Given the description of an element on the screen output the (x, y) to click on. 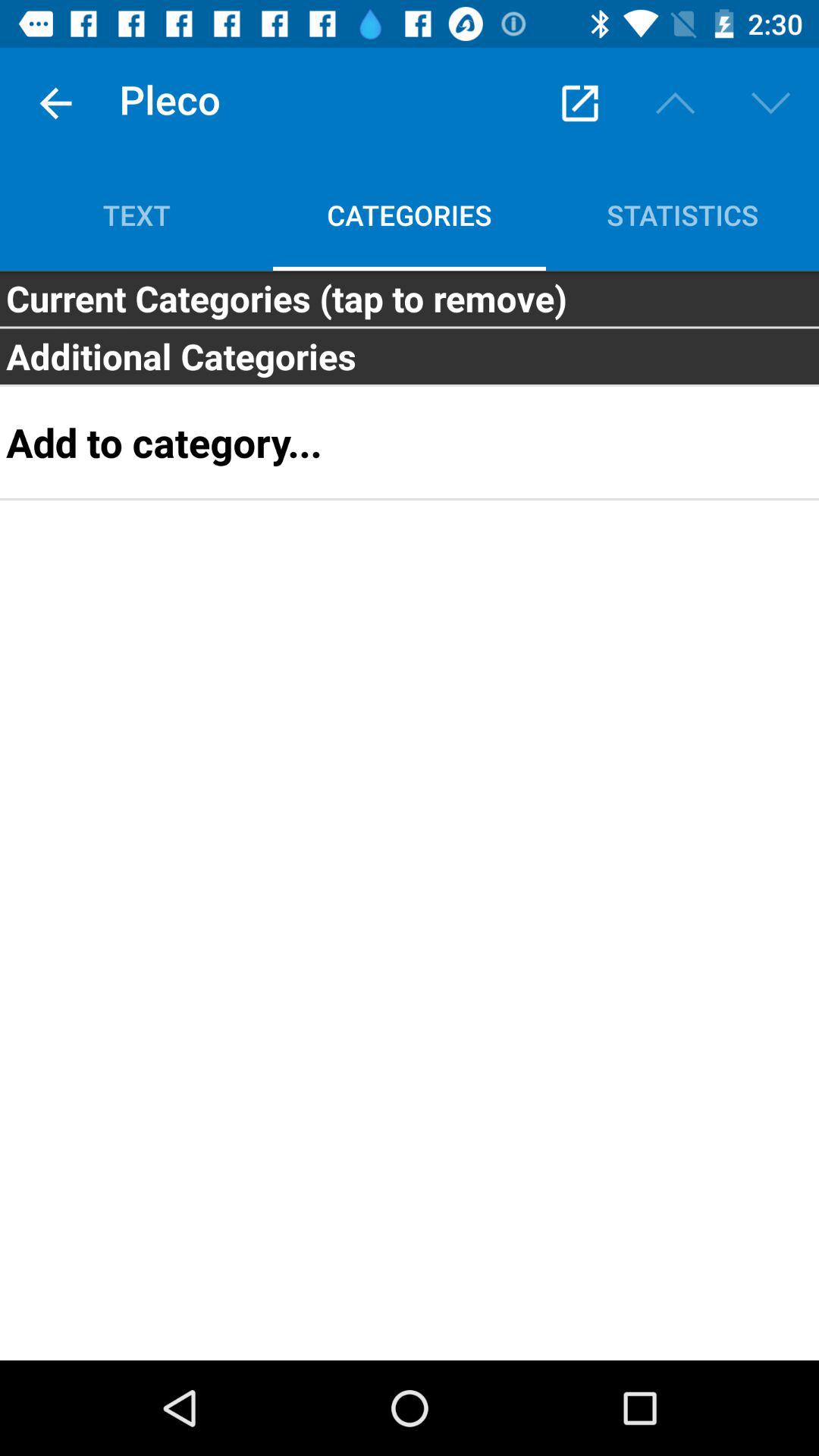
turn on current categories tap item (409, 298)
